Given the description of an element on the screen output the (x, y) to click on. 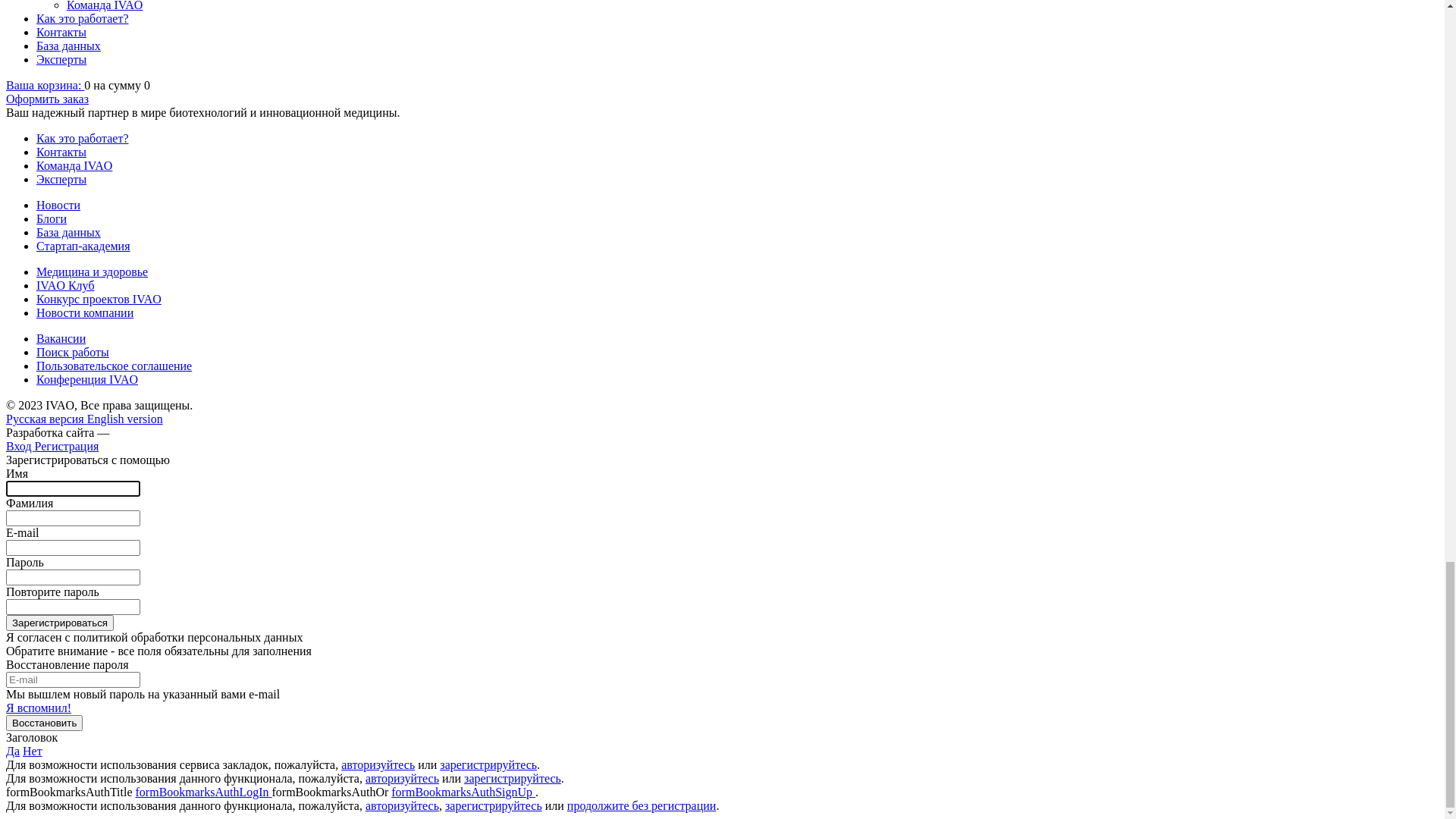
Ru Element type: text (14, 82)
En Element type: text (30, 109)
En Element type: text (30, 82)
Ru Element type: text (14, 109)
Viam affectare Olympo Element type: text (722, 27)
